Given the description of an element on the screen output the (x, y) to click on. 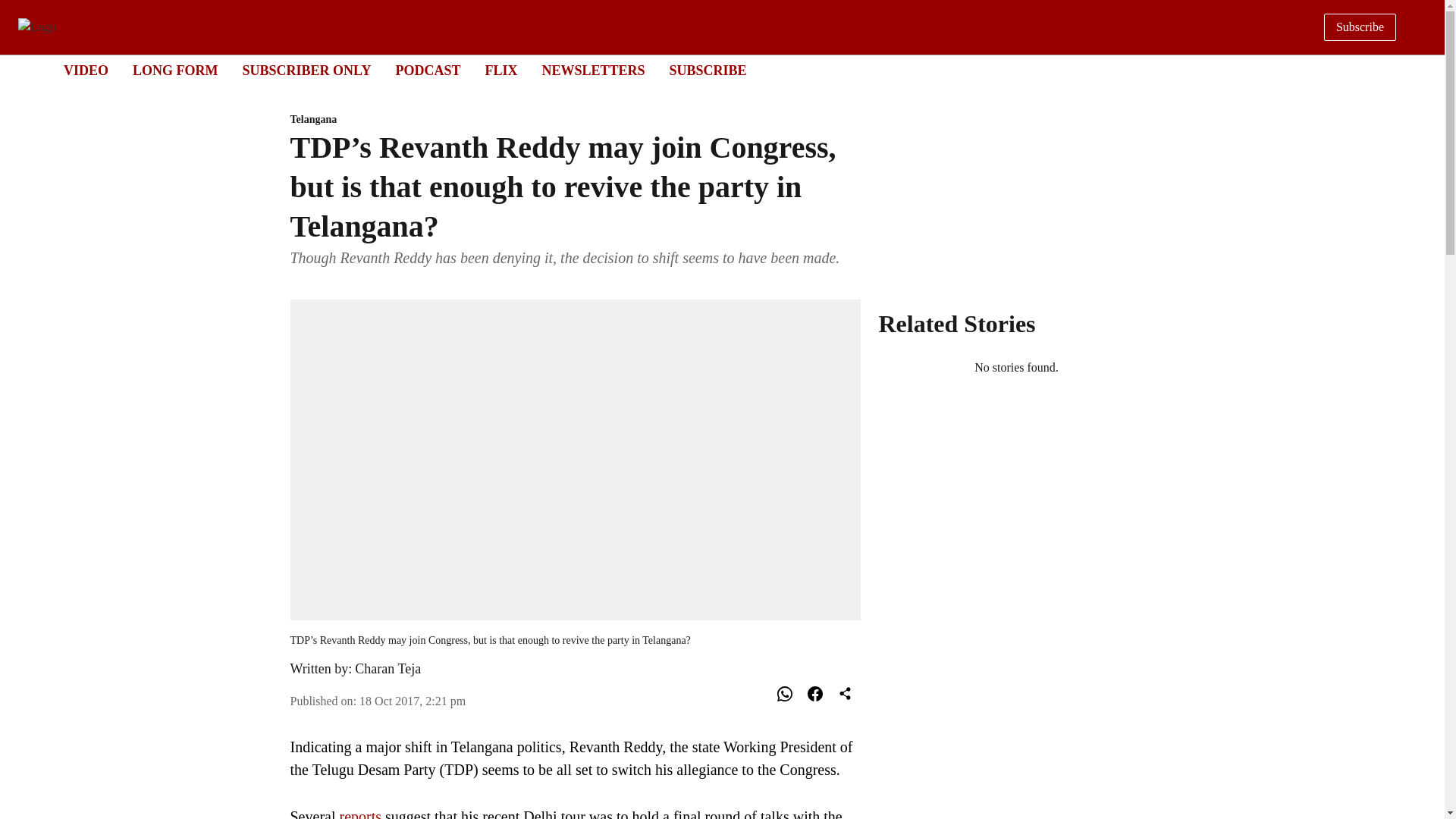
2017-10-18 14:21 (412, 700)
SUBSCRIBE (707, 70)
LONG FORM (175, 70)
SUBSCRIBER ONLY (307, 70)
NEWSLETTERS (593, 70)
PODCAST (427, 70)
reports  (362, 813)
Charan Teja (387, 668)
FLIX (500, 70)
Telangana (574, 119)
VIDEO (85, 70)
